Given the description of an element on the screen output the (x, y) to click on. 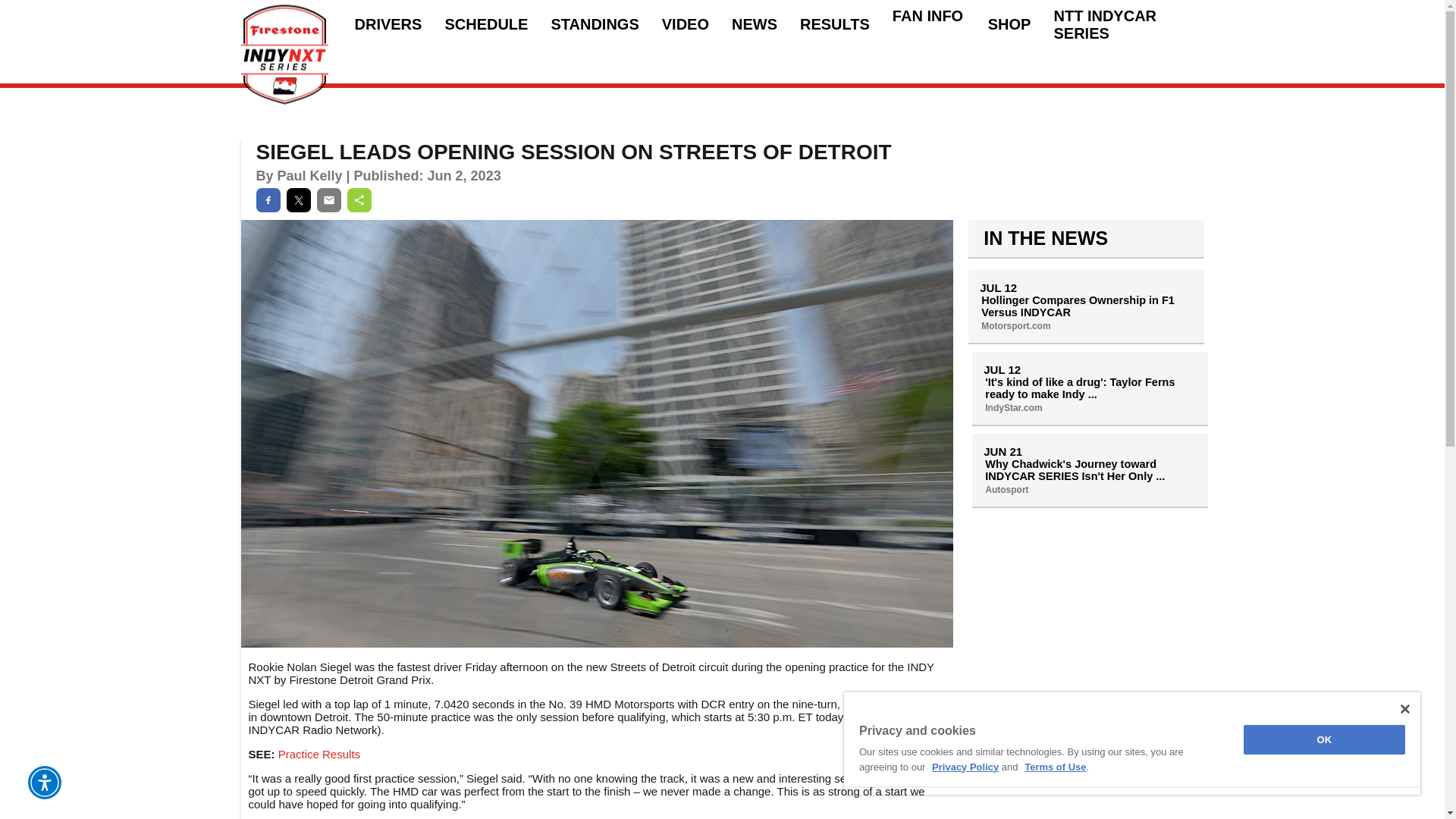
NTT INDYCAR SERIES (1128, 24)
FAN INFO (928, 24)
Practice Results (318, 753)
RESULTS (834, 24)
VIDEO (685, 24)
Accessibility Menu (44, 782)
DRIVERS (388, 24)
STANDINGS (594, 24)
SHOP (1009, 24)
NEWS (754, 24)
SCHEDULE (485, 24)
